Given the description of an element on the screen output the (x, y) to click on. 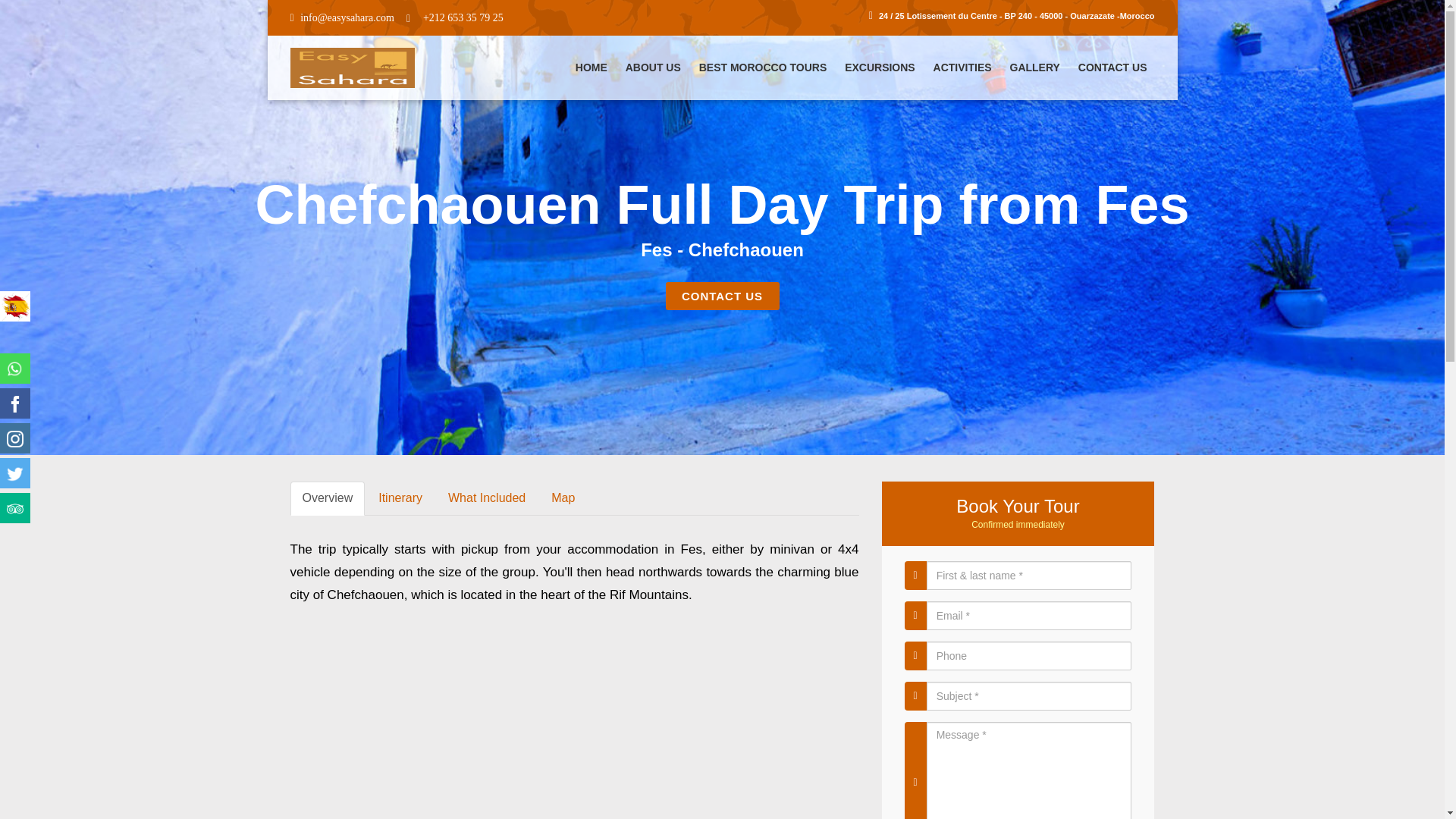
Overview (327, 498)
ABOUT US (652, 66)
GALLERY (1035, 66)
ACTIVITIES (962, 66)
Map (562, 498)
CONTACT US (721, 295)
CONTACT US (1112, 66)
What Included (486, 498)
Itinerary (399, 498)
EXCURSIONS (880, 66)
BEST MOROCCO TOURS (762, 66)
